Given the description of an element on the screen output the (x, y) to click on. 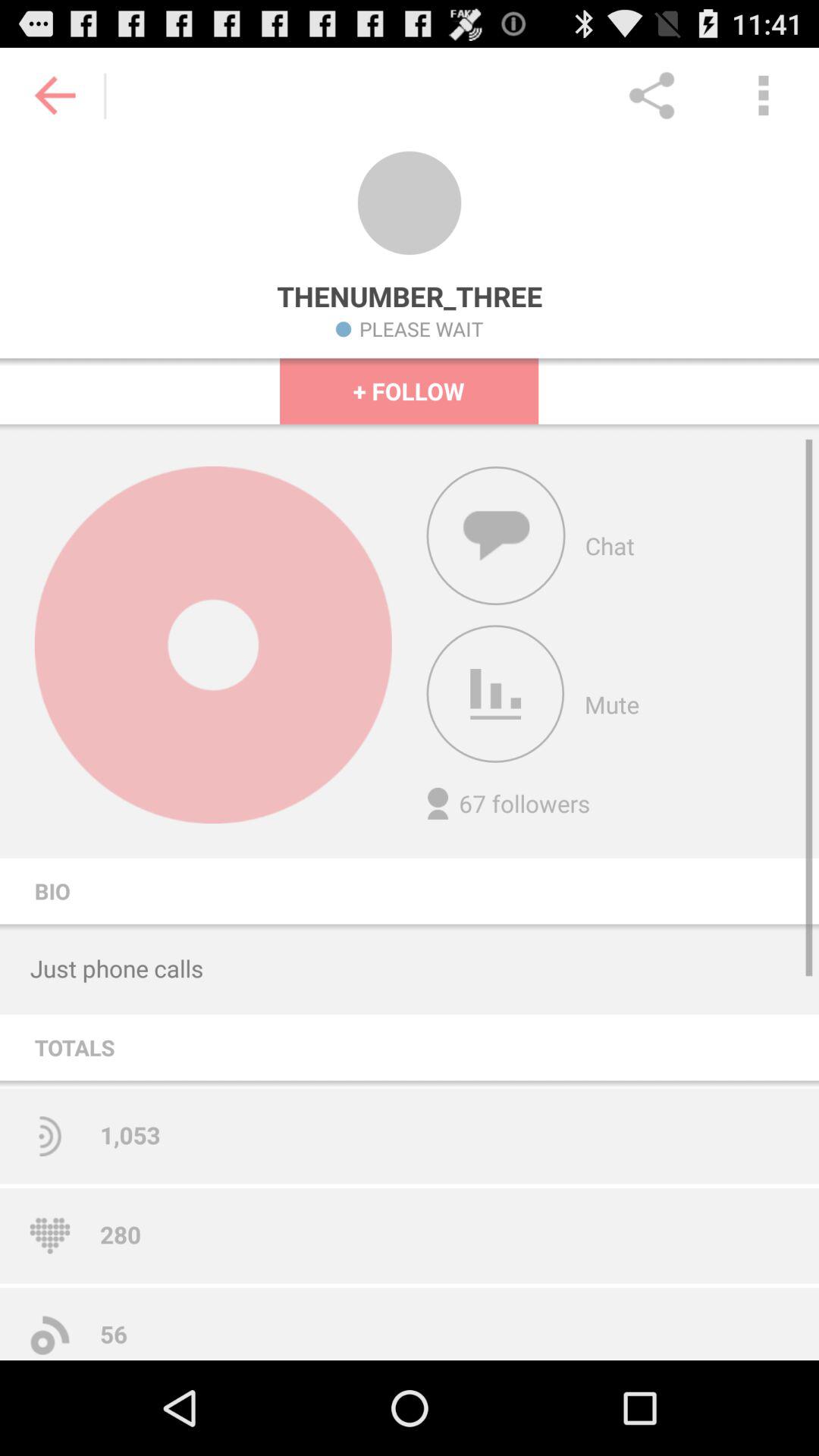
utilize chat feature (495, 535)
